Given the description of an element on the screen output the (x, y) to click on. 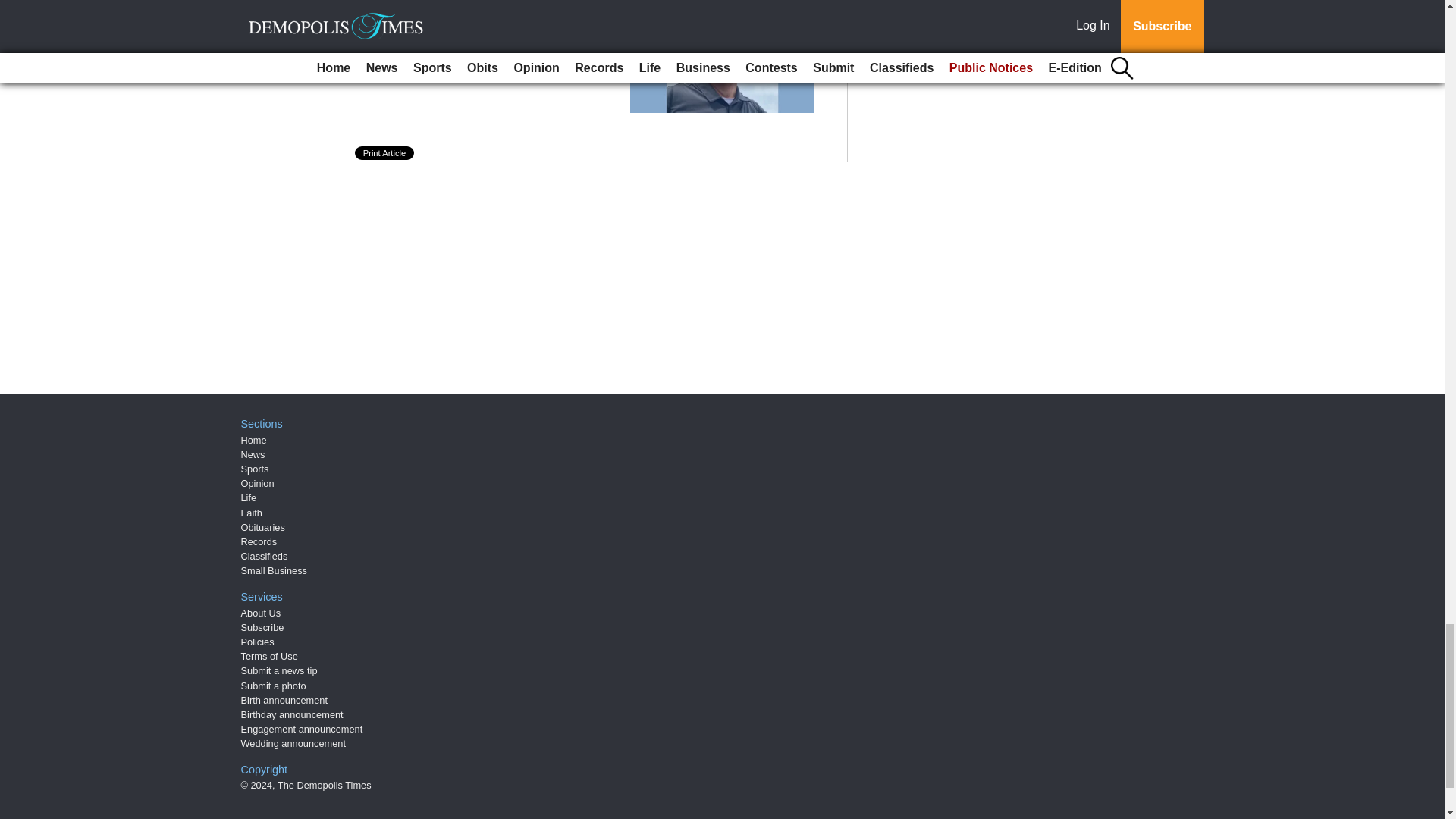
Opinion (258, 482)
News (252, 454)
KELLY: Handle it like Job (472, 20)
Print Article (384, 152)
KELLY: Handle it like Job (472, 20)
Home (253, 439)
Sports (255, 469)
